Given the description of an element on the screen output the (x, y) to click on. 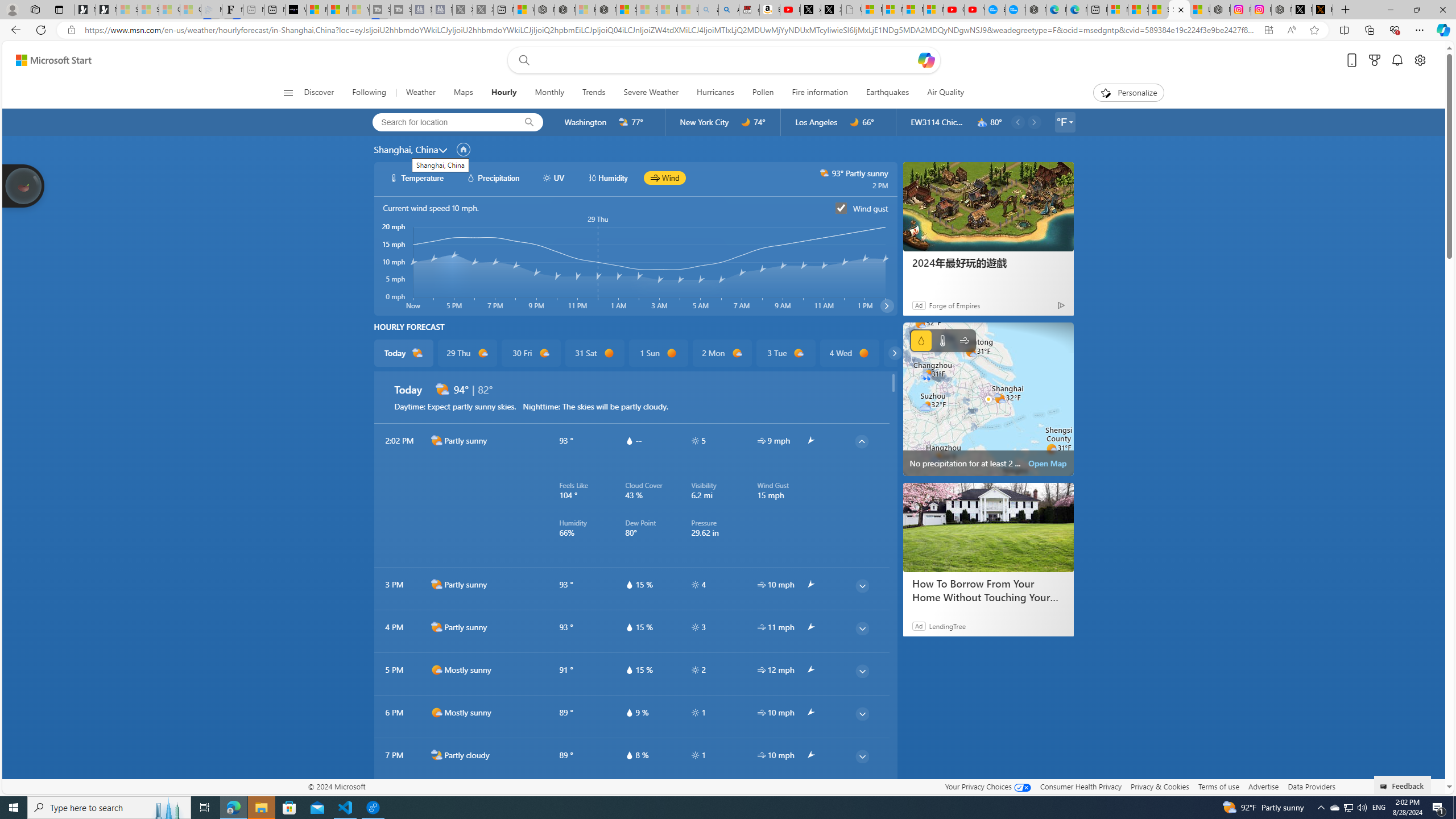
30 Fri d1000 (530, 352)
Earthquakes (887, 92)
hourlyChart/temperatureWhite Temperature (416, 178)
Class: feedback_link_icon-DS-EntryPoint1-1 (1384, 786)
Nordace - Nordace has arrived Hong Kong (1035, 9)
Open settings (1420, 60)
Wind gust (841, 207)
Join us in planting real trees to help our planet! (23, 185)
Fire information (820, 92)
